Given the description of an element on the screen output the (x, y) to click on. 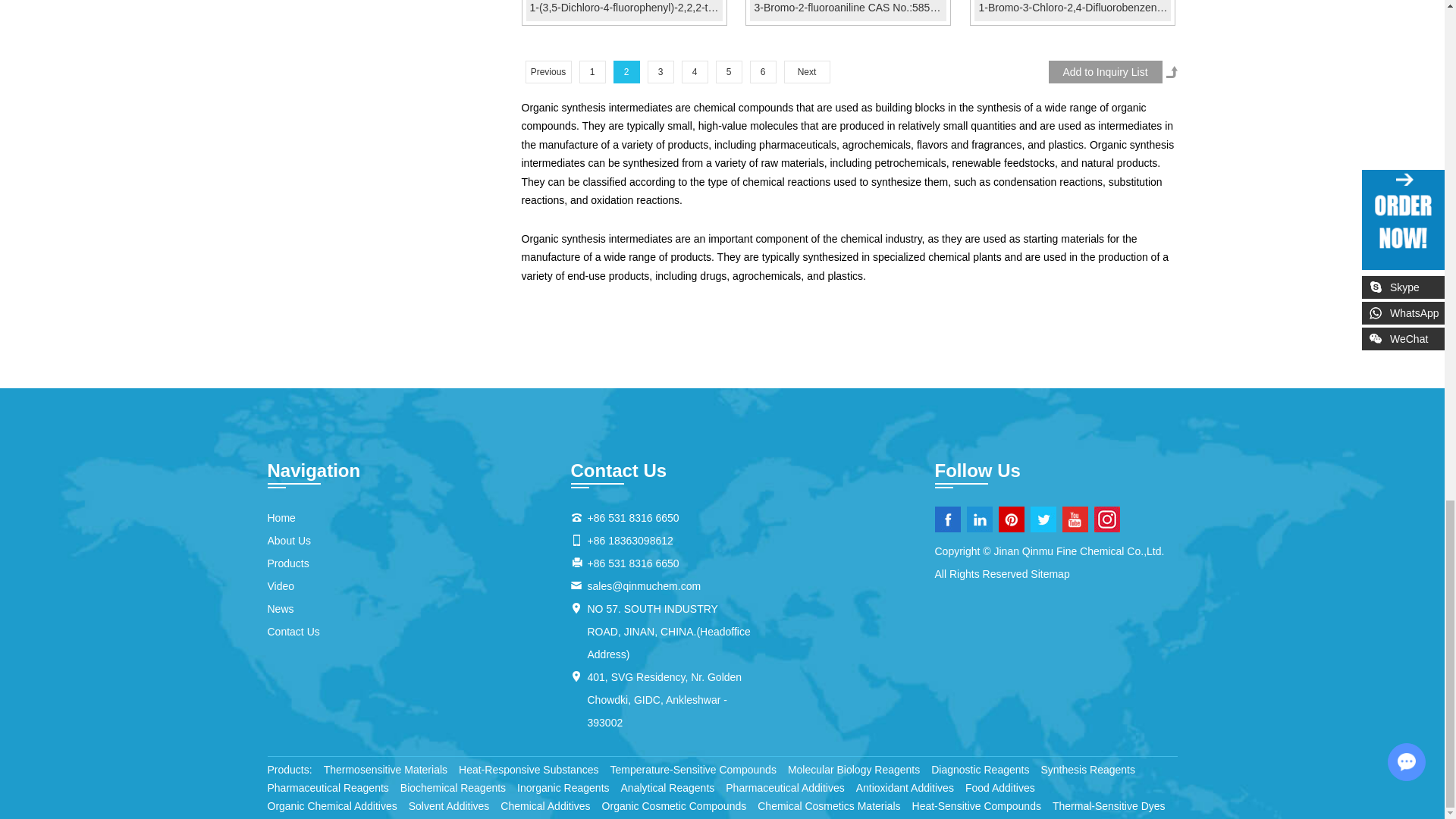
Add to Inquiry List (1104, 71)
